Given the description of an element on the screen output the (x, y) to click on. 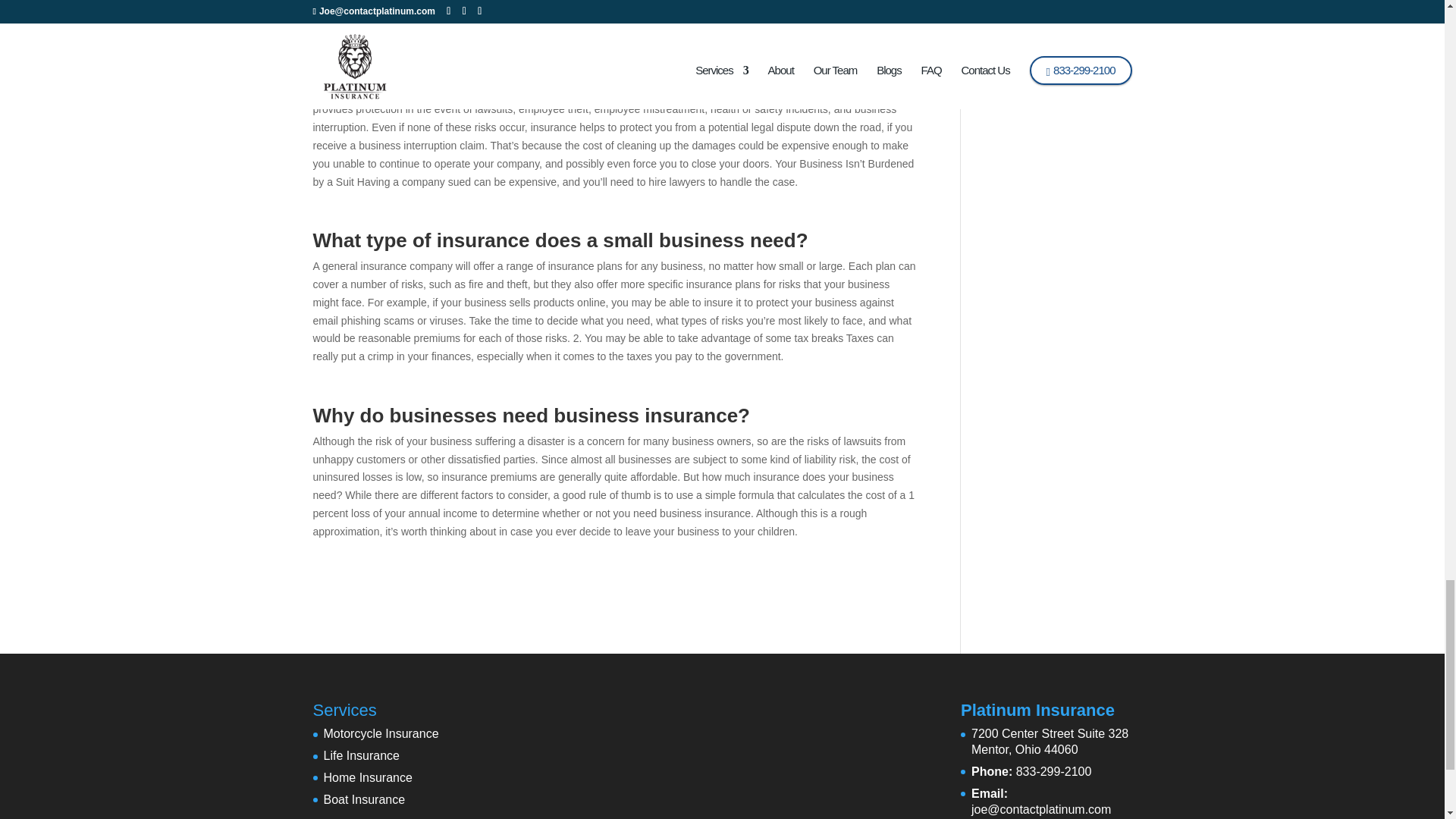
Phone: 833-299-2100 (1030, 771)
Motorcycle Insurance (380, 733)
Life Insurance (1049, 741)
Home Insurance (360, 755)
Boat Insurance (367, 777)
